Given the description of an element on the screen output the (x, y) to click on. 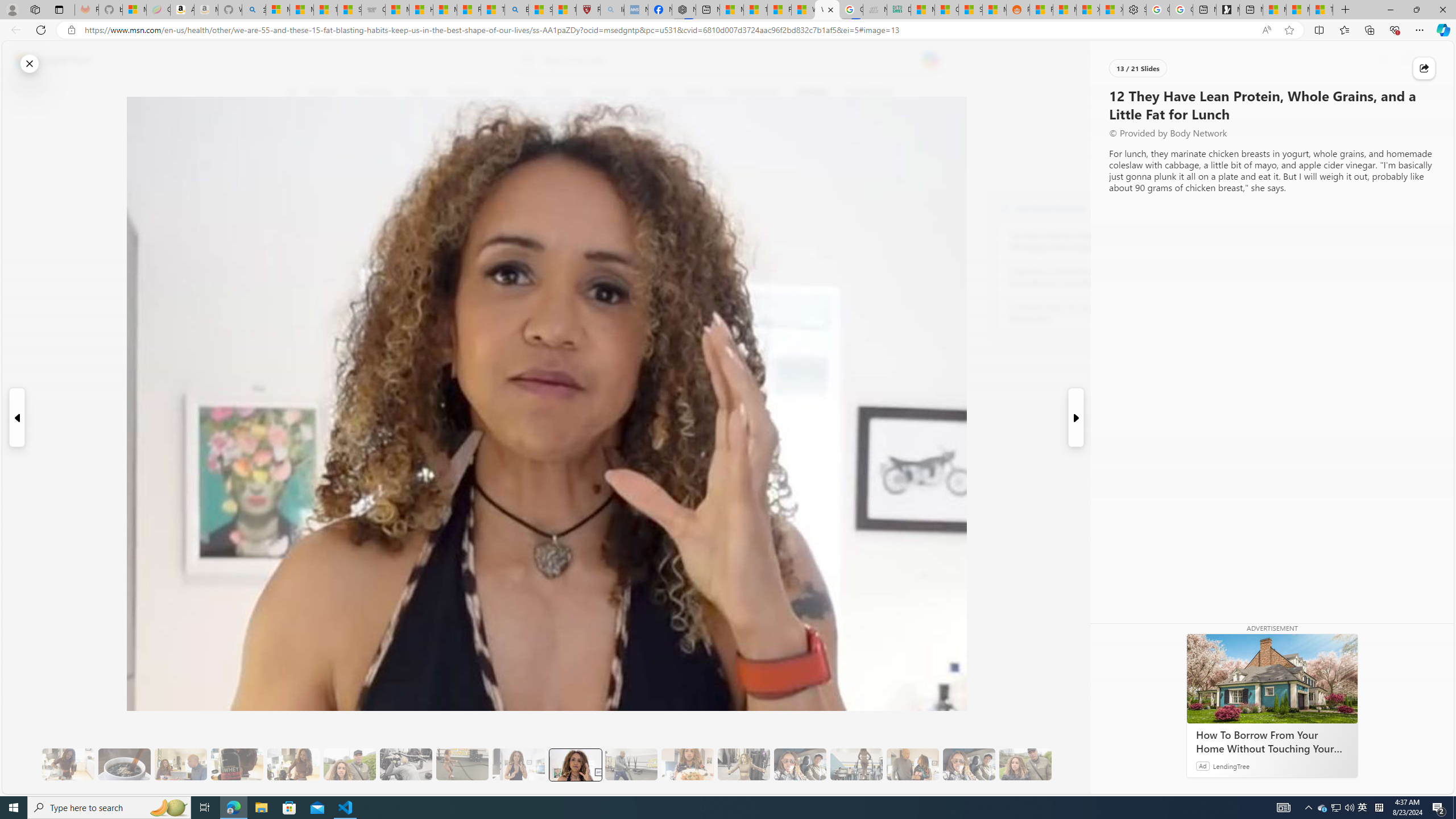
Class: at-item immersive (1423, 68)
12 Proven Ways To Increase Your Metabolism (1071, 313)
Follow (518, 146)
6 Since Eating More Protein Her Training Has Improved (237, 764)
How To Borrow From Your Home Without Touching Your Mortgage (1271, 741)
To get missing image descriptions, open the context menu. (1109, 92)
Science (557, 92)
